Given the description of an element on the screen output the (x, y) to click on. 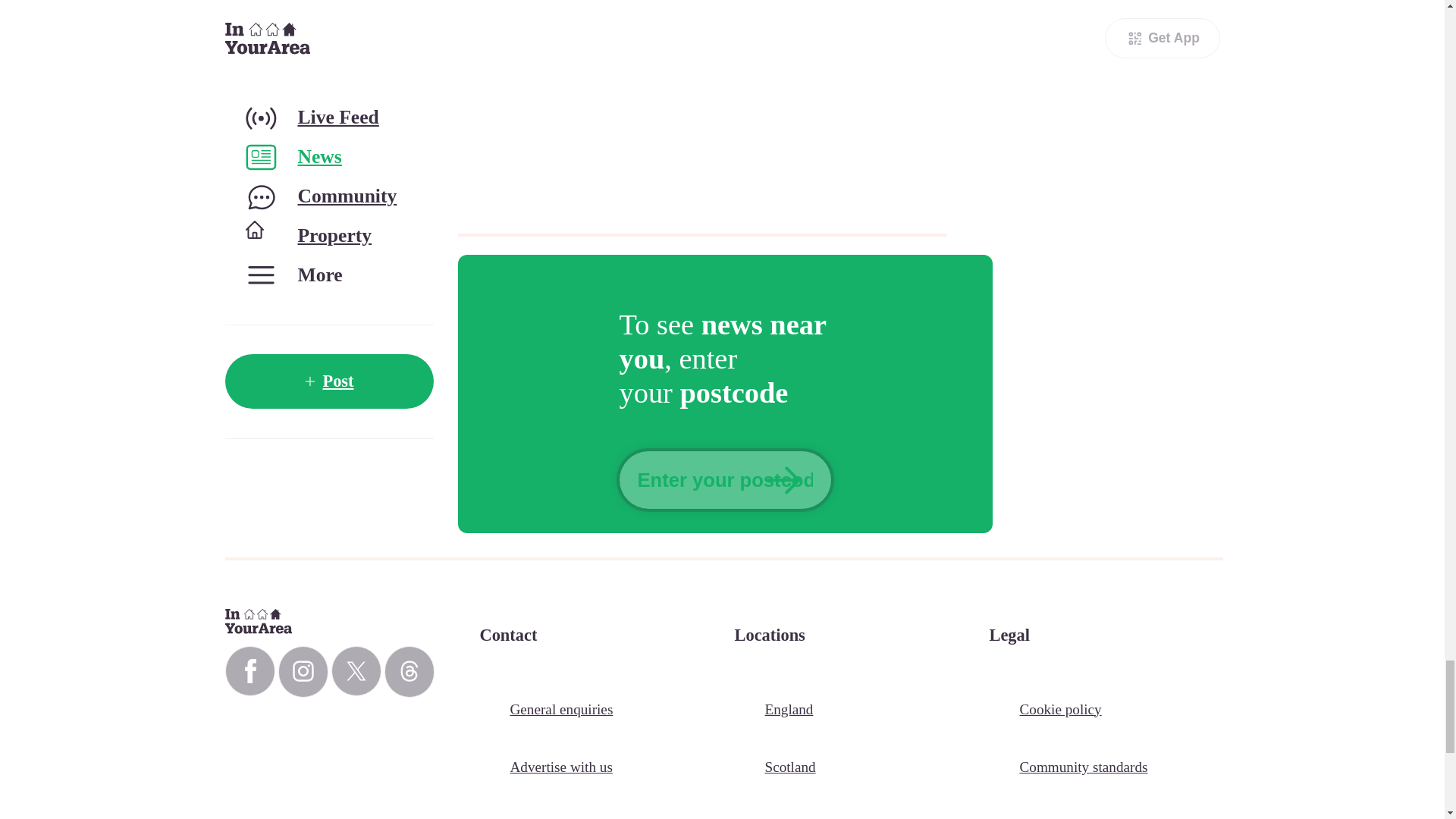
InYourArea Instagram (302, 671)
InYourArea Facebook (249, 671)
InYourArea Threads (408, 671)
comments (719, 106)
InYourArea X (355, 671)
